Given the description of an element on the screen output the (x, y) to click on. 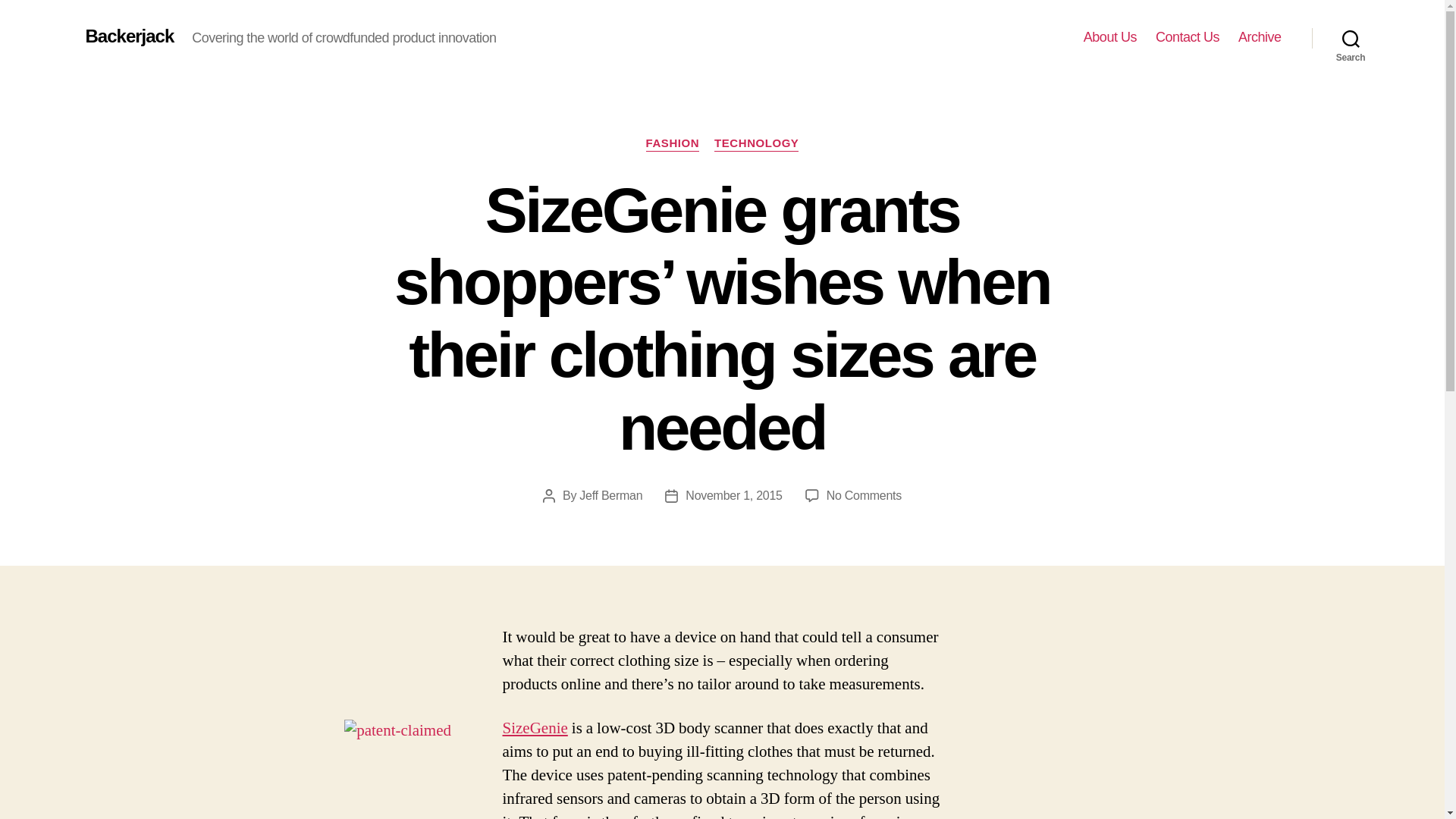
Archive (1260, 37)
Backerjack (128, 36)
November 1, 2015 (733, 495)
Jeff Berman (610, 495)
TECHNOLOGY (755, 143)
Search (1350, 37)
About Us (1110, 37)
Contact Us (1188, 37)
FASHION (673, 143)
SizeGenie (534, 728)
